Given the description of an element on the screen output the (x, y) to click on. 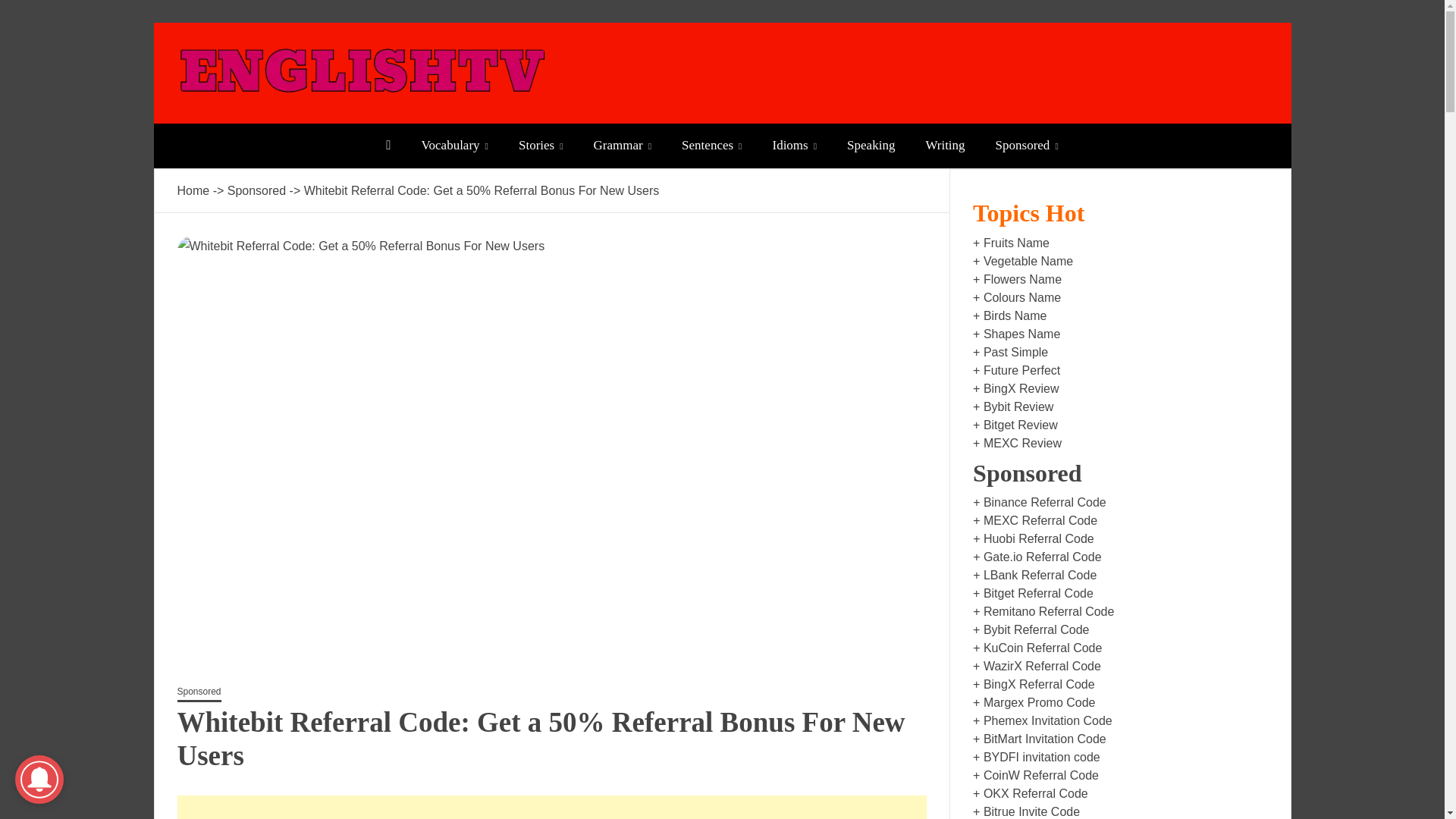
Englishtivi (255, 122)
Advertisement (551, 807)
Sentences (711, 145)
Grammar (622, 145)
Stories (540, 145)
Vocabulary (454, 145)
